Given the description of an element on the screen output the (x, y) to click on. 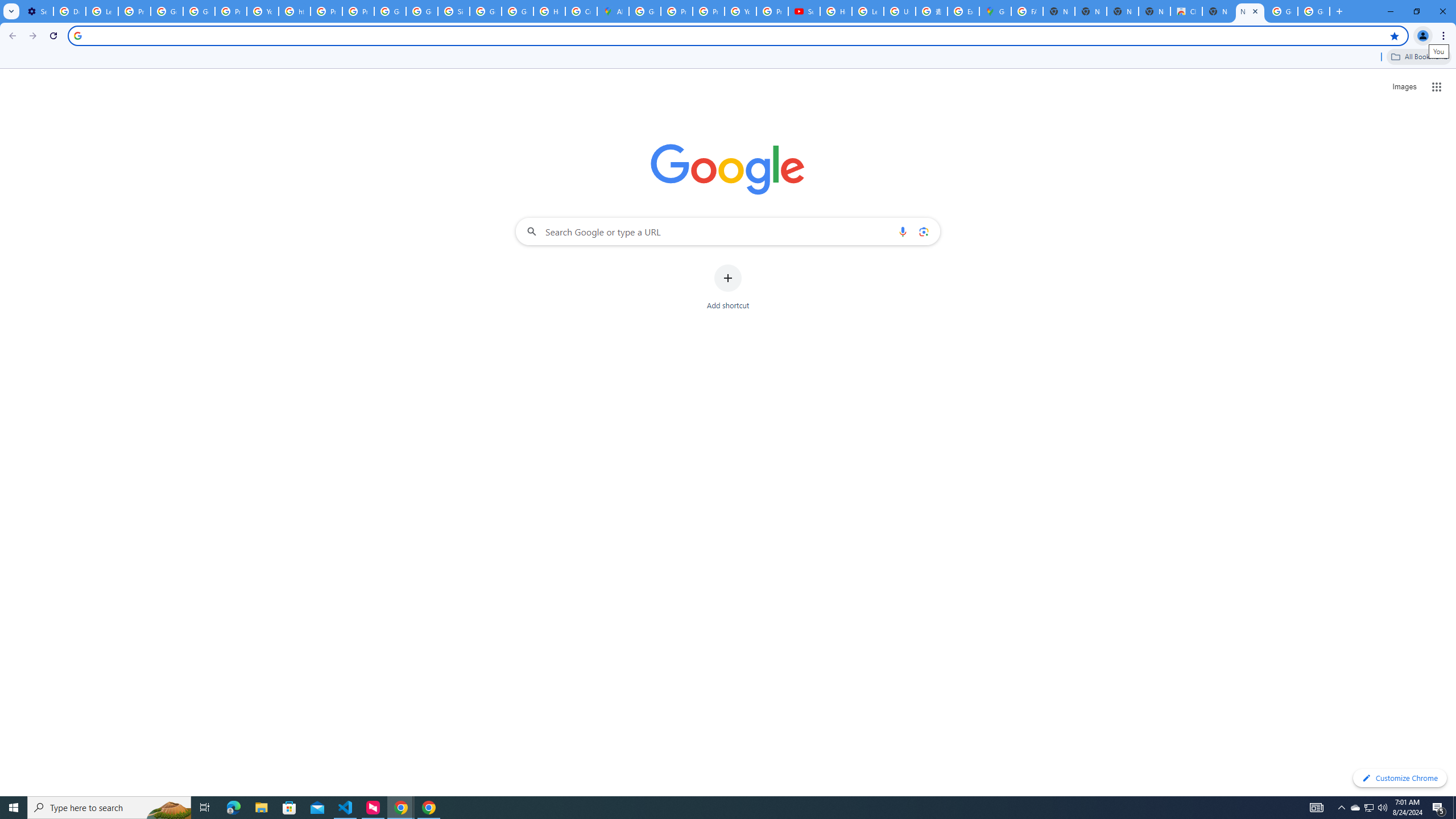
Sign in - Google Accounts (453, 11)
